Given the description of an element on the screen output the (x, y) to click on. 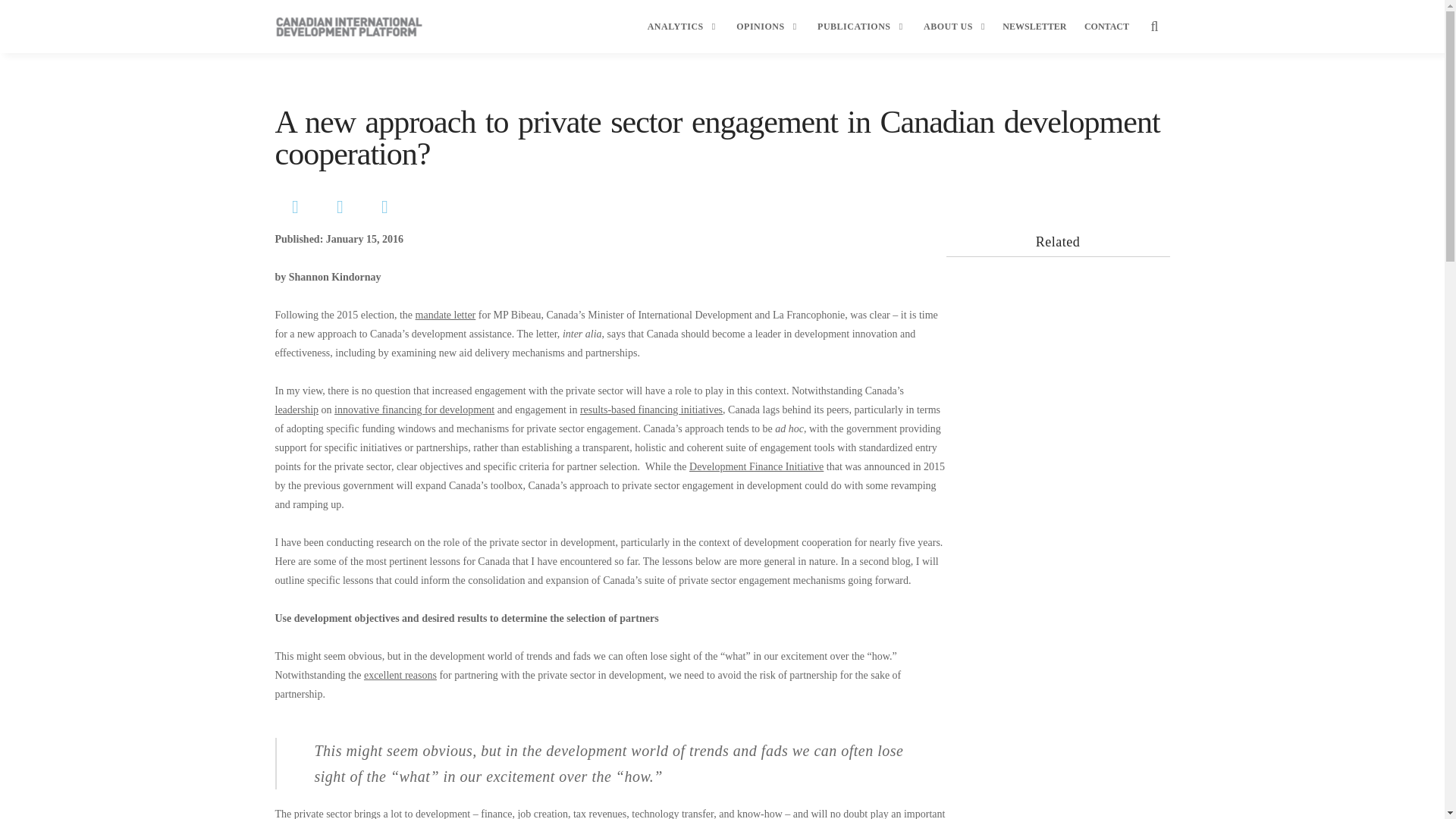
May 2021 (1229, 810)
Share this (341, 207)
Canada and the 2020 OECD-DAC Aid Statistics (1292, 286)
Paul LaRose-Edwards (1256, 433)
Development Projects (1340, 622)
Eugene Nzeribe (1240, 572)
